Given the description of an element on the screen output the (x, y) to click on. 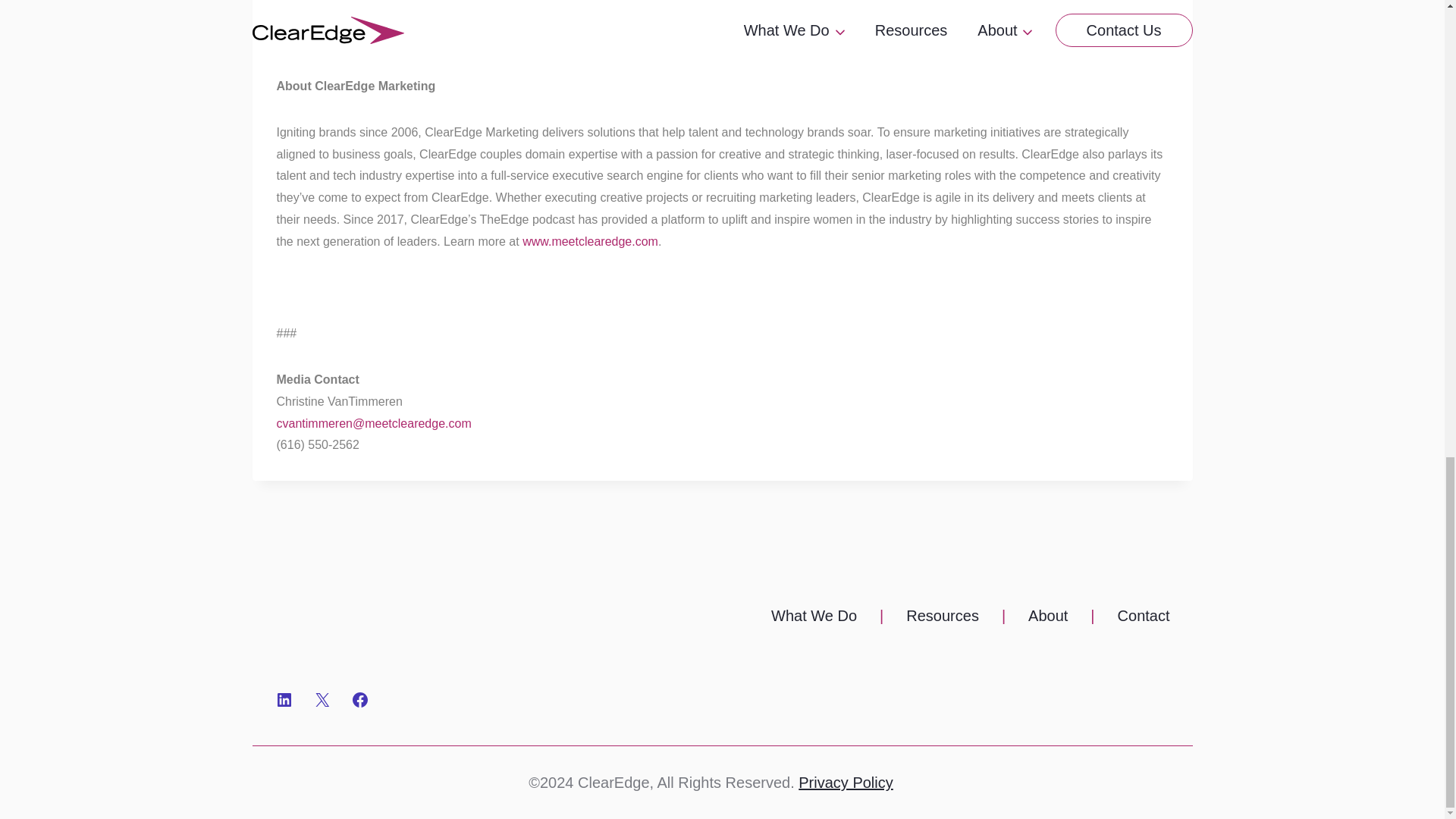
Facebook (359, 700)
Resources (941, 615)
What We Do (814, 615)
Privacy Policy (844, 782)
X (321, 700)
About (1047, 615)
LinkedIn (283, 700)
Contact (1144, 615)
www.meetclearedge.com (588, 241)
